Given the description of an element on the screen output the (x, y) to click on. 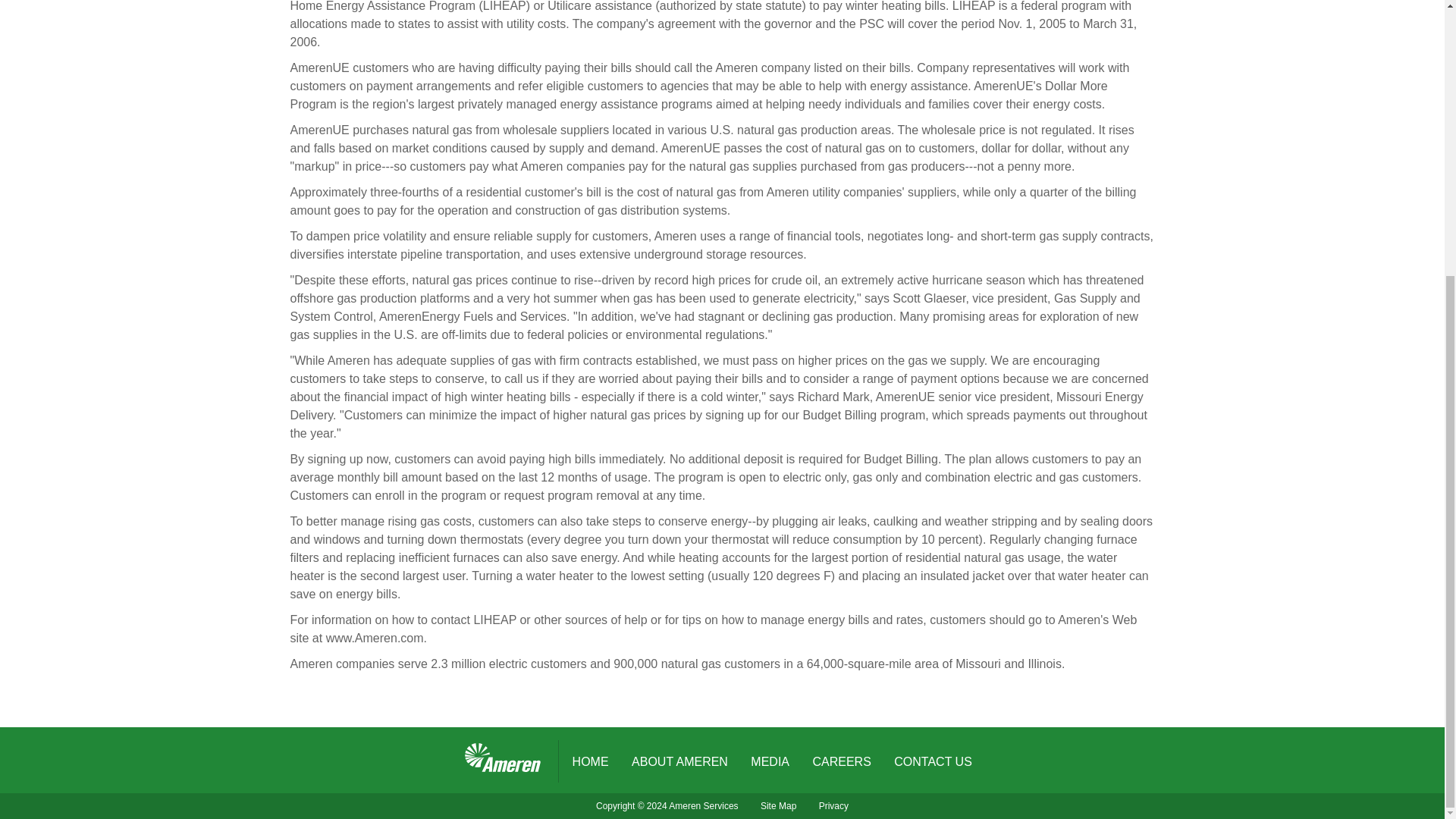
homepage (503, 758)
